Given the description of an element on the screen output the (x, y) to click on. 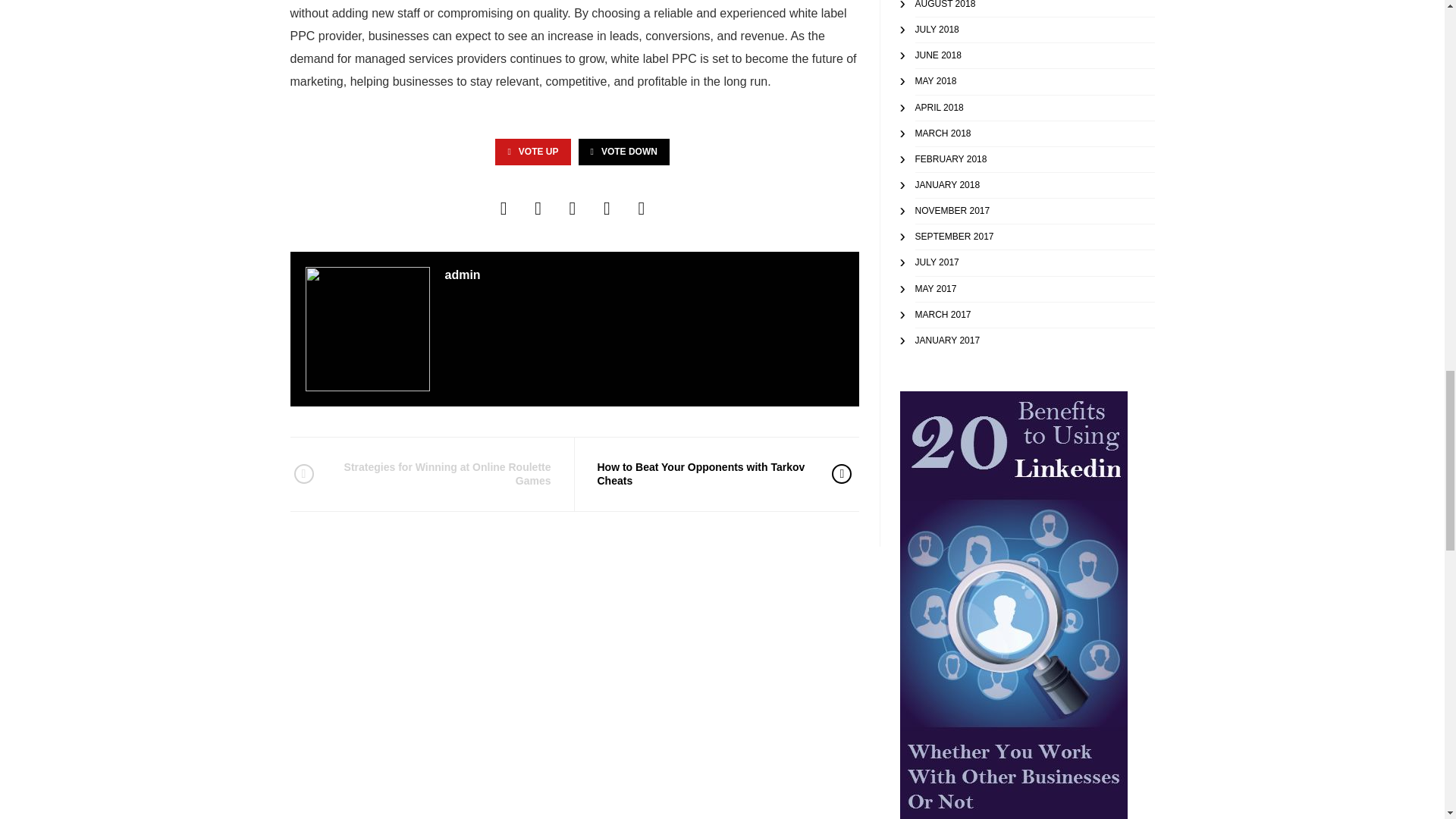
Strategies for Winning at Online Roulette Games (442, 473)
VOTE UP (532, 151)
How to Beat Your Opponents with Tarkov Cheats (702, 473)
VOTE DOWN (623, 151)
admin (462, 274)
